Given the description of an element on the screen output the (x, y) to click on. 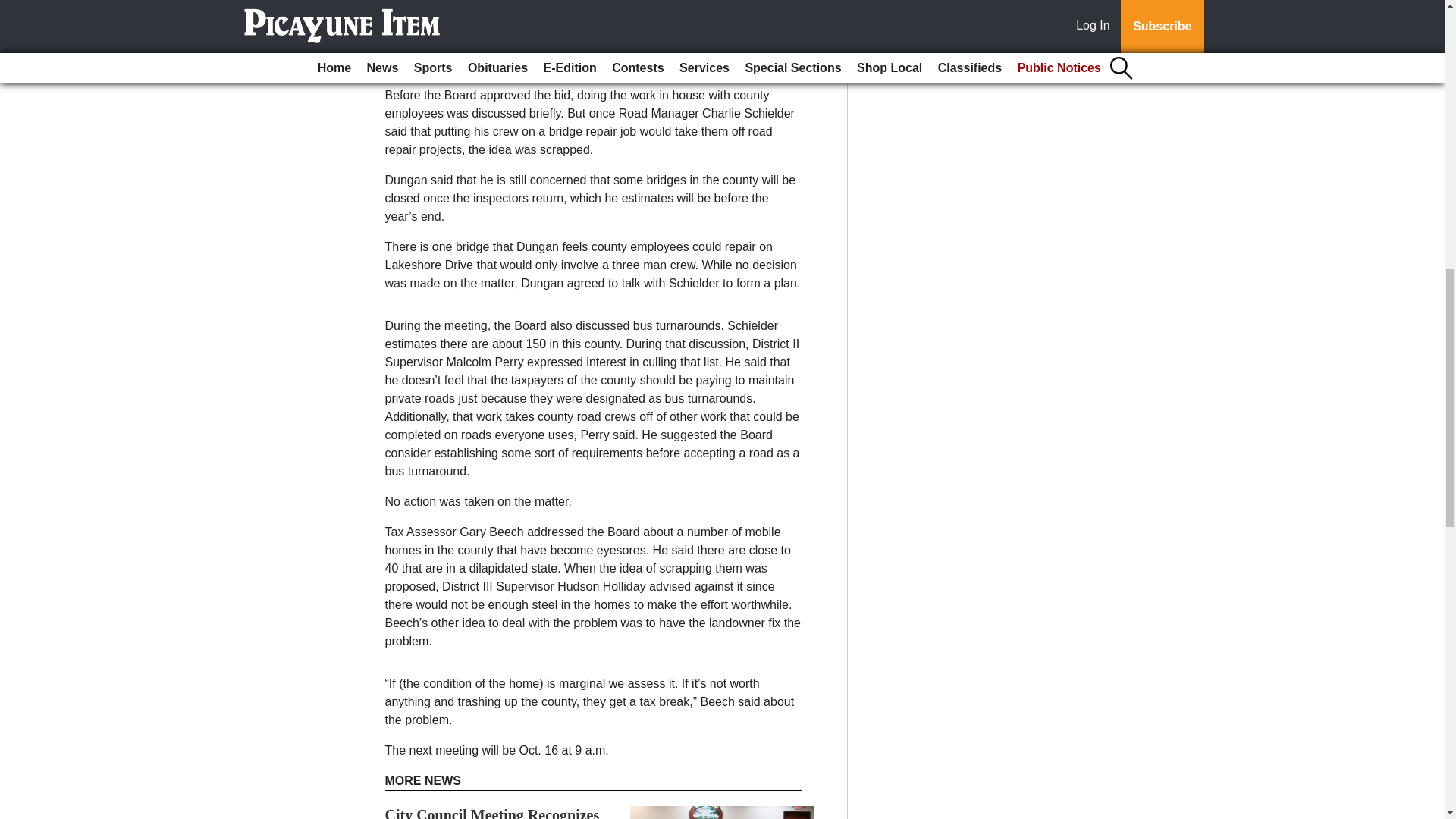
Subscribe (434, 45)
Subscribe (434, 45)
